Given the description of an element on the screen output the (x, y) to click on. 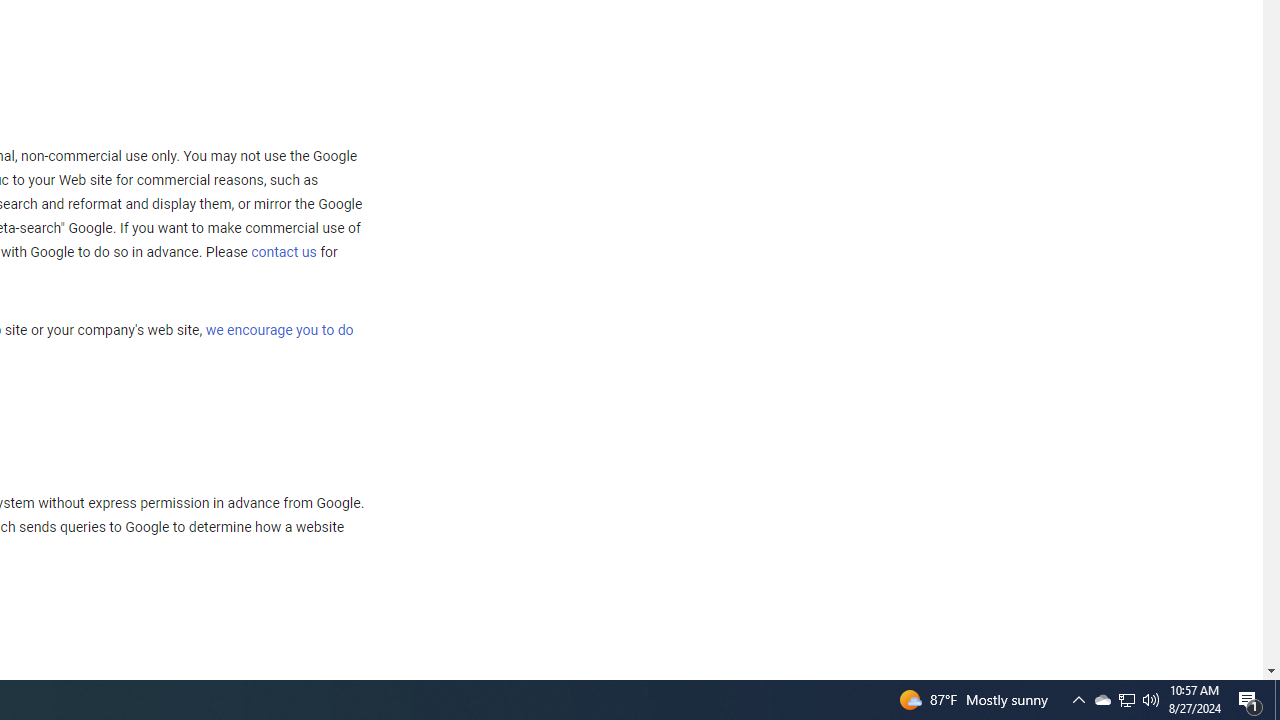
contact us (283, 251)
